Given the description of an element on the screen output the (x, y) to click on. 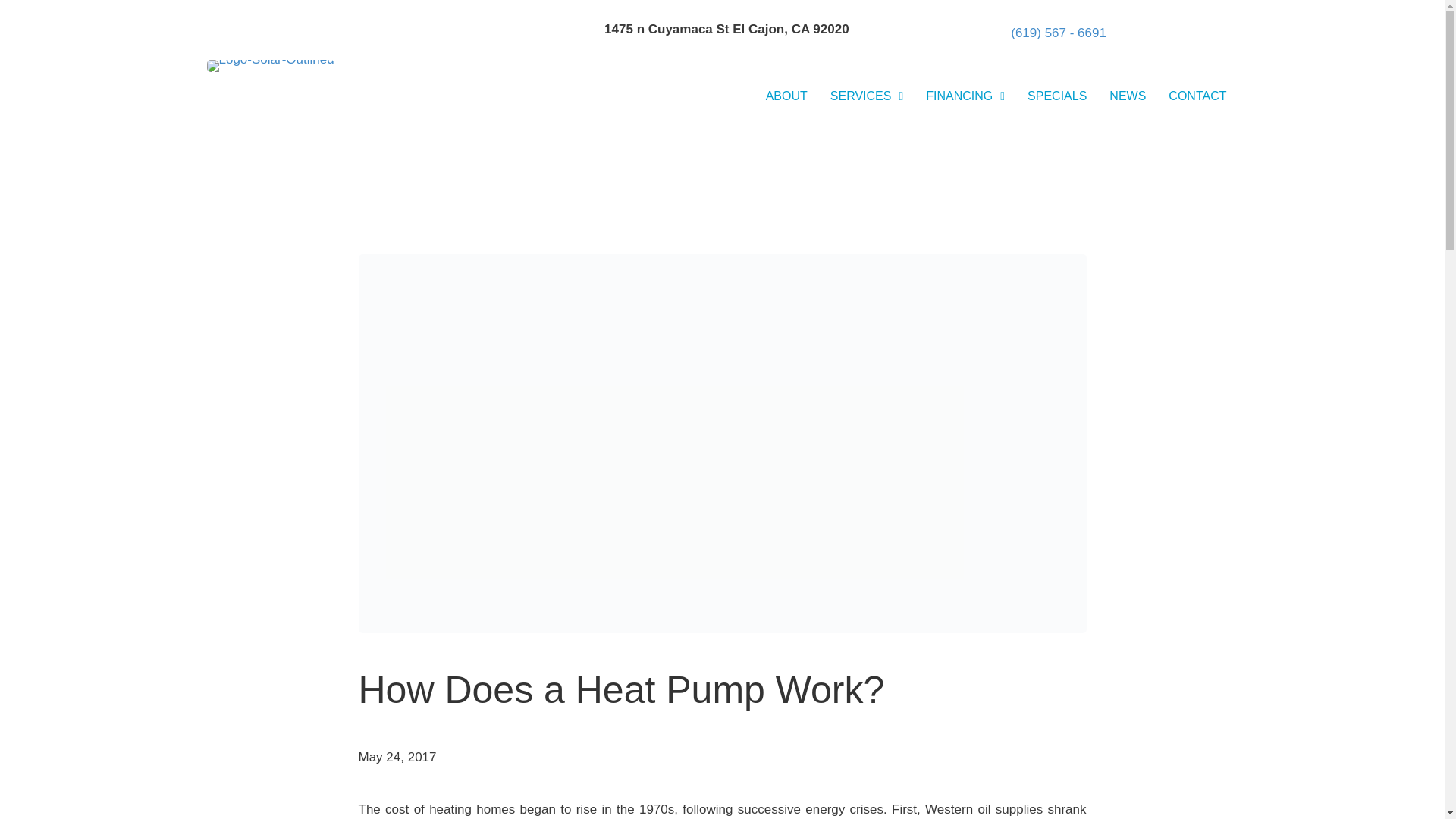
ABOUT (786, 95)
SERVICES (866, 95)
FINANCING (964, 95)
Logo-Solar-Outlined (269, 65)
SPECIALS (1057, 95)
NEWS (1127, 95)
CONTACT (1196, 95)
